Given the description of an element on the screen output the (x, y) to click on. 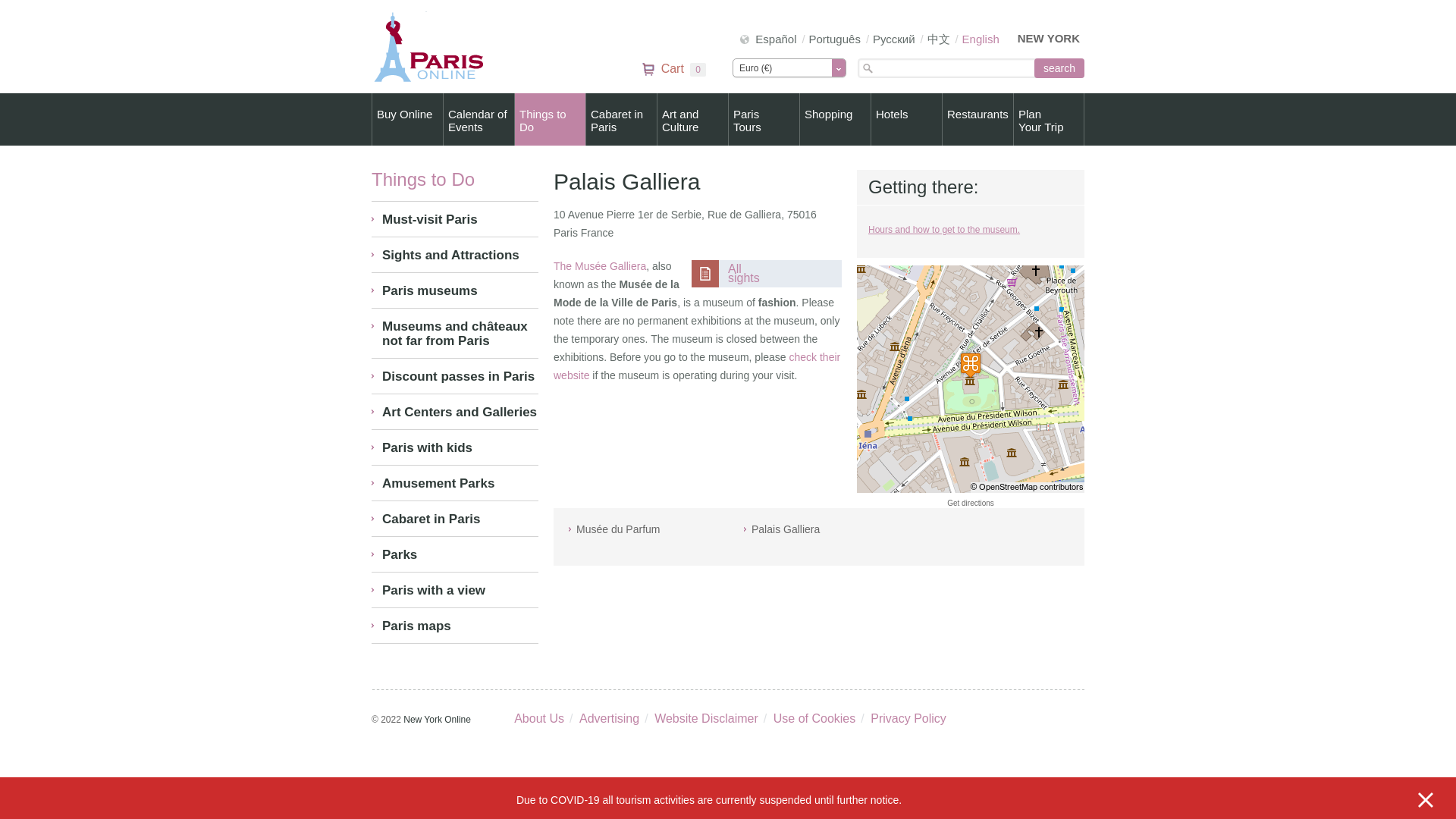
 Paris maps (454, 625)
 Paris museums (454, 290)
English (980, 38)
 Amusement Parks (744, 273)
Cabaret in Paris (454, 483)
Buy Online (621, 119)
  Cart 0 (407, 119)
 Must-visit Paris (674, 69)
 Paris with a view (454, 218)
 Paris with kids (454, 590)
NEW YORK (550, 119)
